Given the description of an element on the screen output the (x, y) to click on. 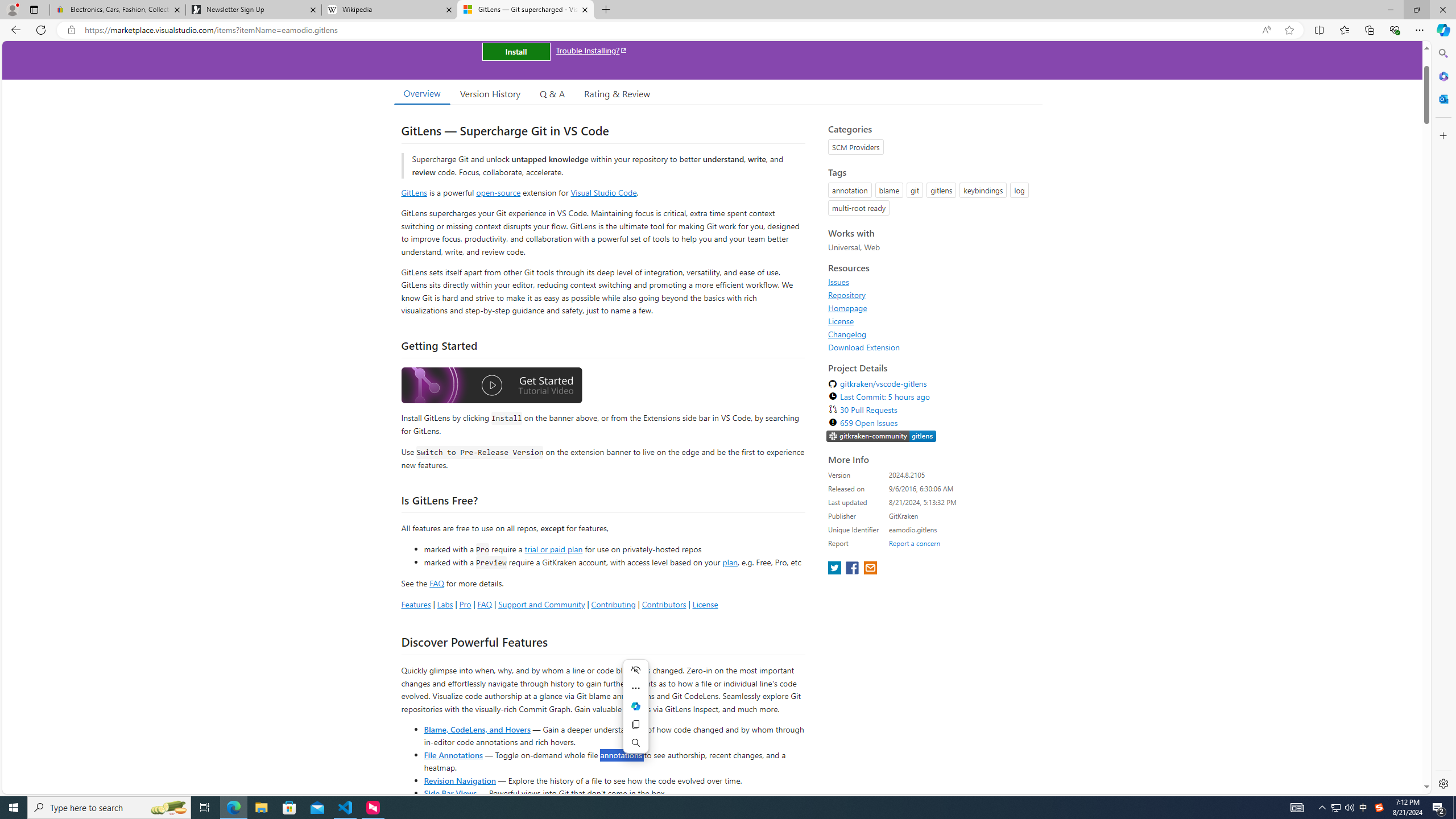
Labs (444, 603)
trial or paid plan (553, 548)
Contributing (613, 603)
Repository (847, 294)
